Given the description of an element on the screen output the (x, y) to click on. 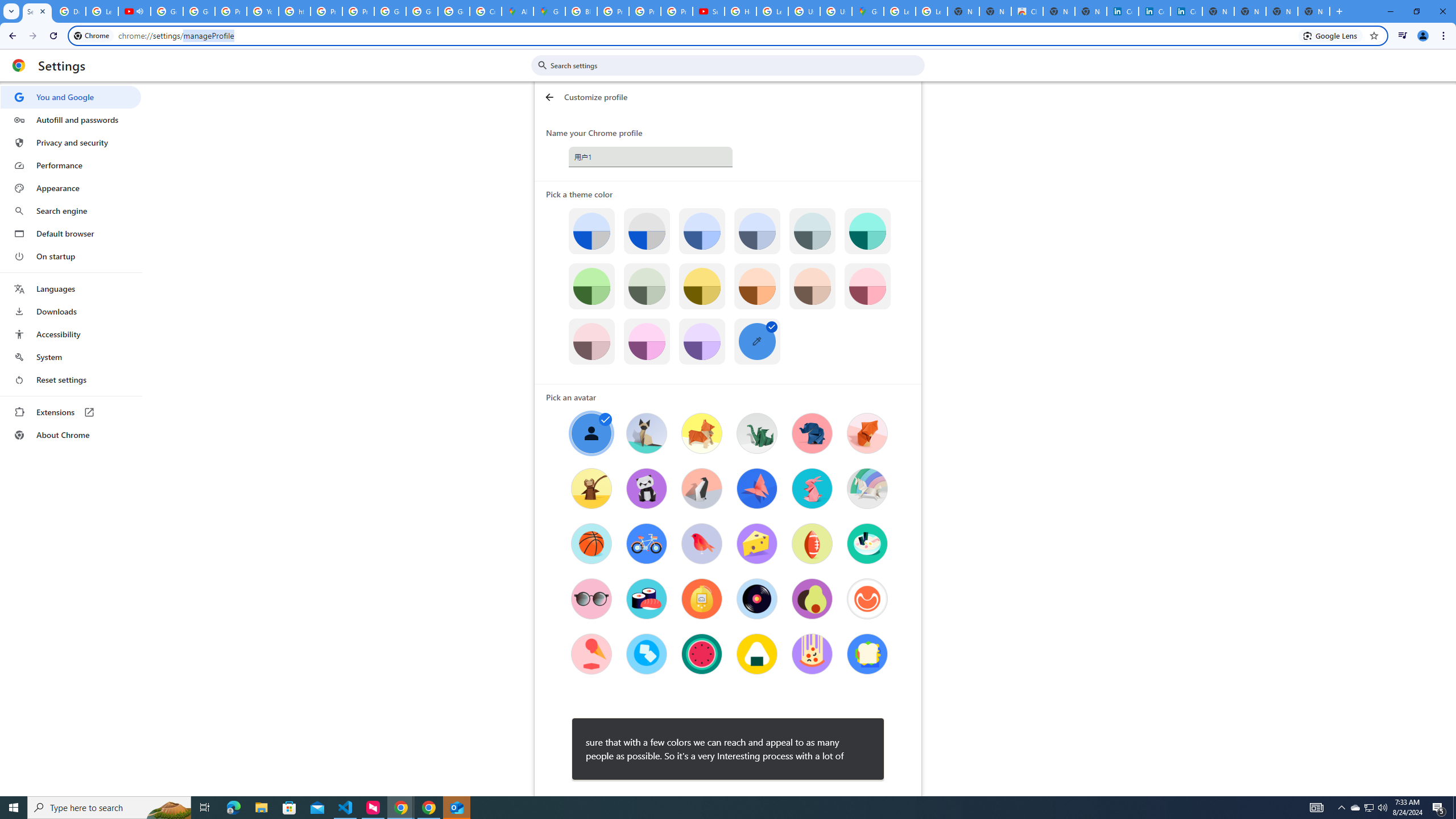
AutomationID: menu (71, 265)
Subscriptions - YouTube (708, 11)
Settings - Customize profile (37, 11)
Downloads (70, 311)
Search settings (735, 65)
Cookie Policy | LinkedIn (1123, 11)
YouTube (262, 11)
Privacy Help Center - Policies Help (326, 11)
Privacy and security (70, 142)
